Given the description of an element on the screen output the (x, y) to click on. 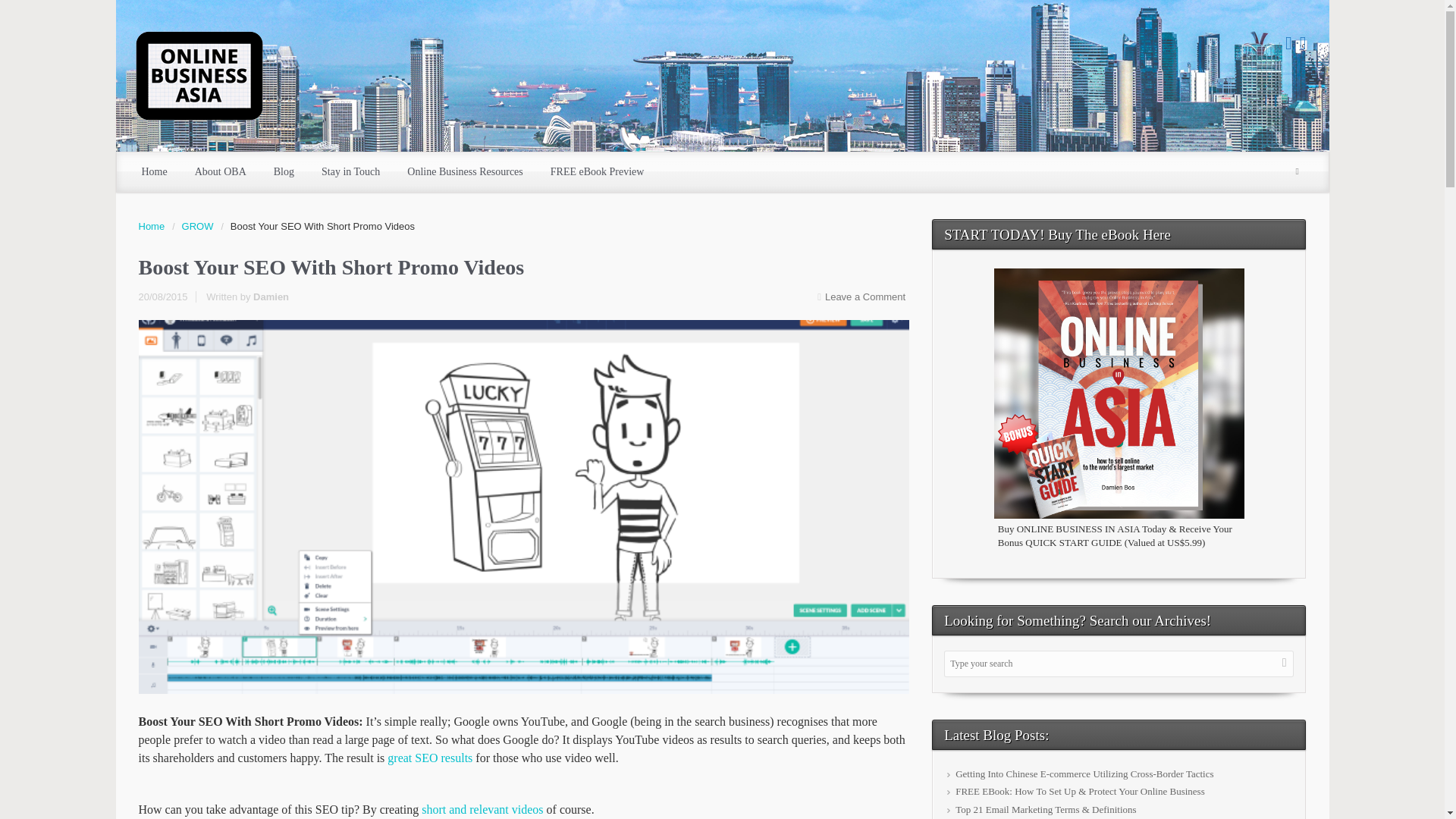
About OBA (220, 171)
Damien (270, 296)
Stay in Touch (350, 171)
GROW (201, 225)
View all posts by Damien (270, 296)
Home (153, 171)
great SEO results (429, 757)
FREE eBook Preview (597, 171)
FREE eBook Preview (597, 171)
GROW (201, 225)
Home (154, 225)
Blog (283, 171)
short and relevant videos (482, 809)
Blog (283, 171)
Online Business Resources (463, 171)
